Given the description of an element on the screen output the (x, y) to click on. 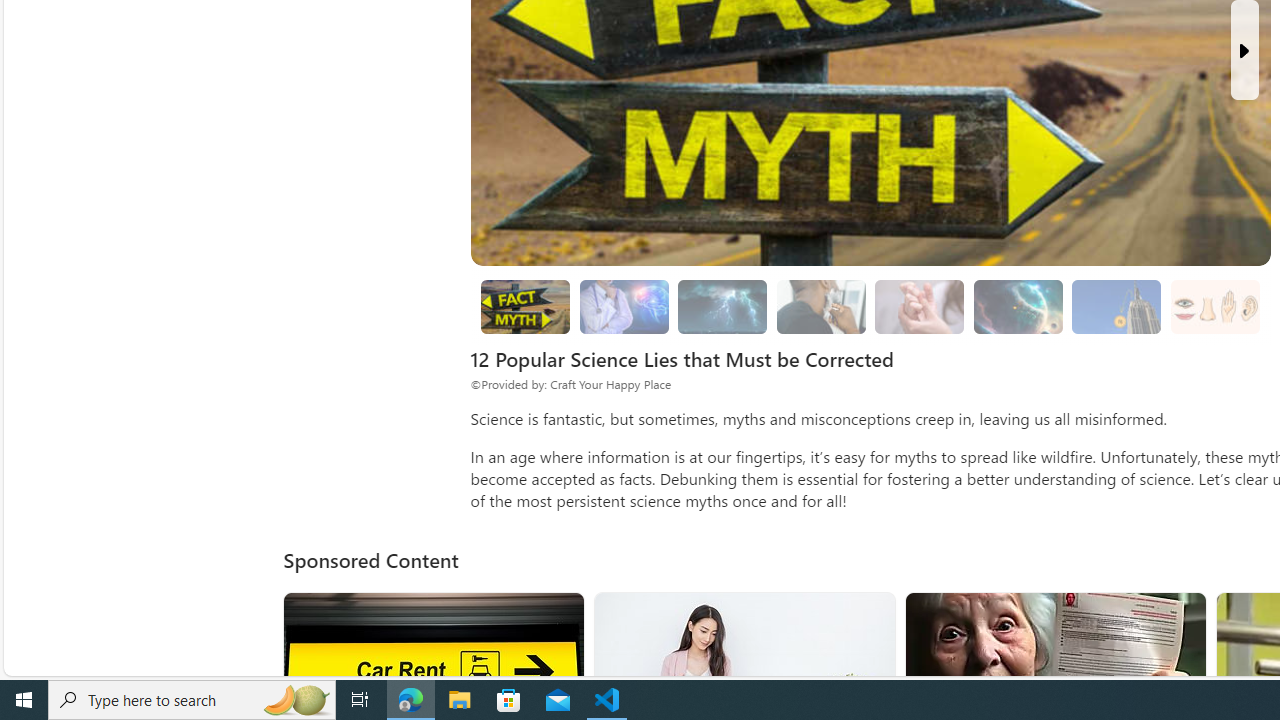
Lightning Myths (723, 307)
Brain Myths (623, 306)
Human Senses (1214, 306)
Brain Myths (623, 307)
